Given the description of an element on the screen output the (x, y) to click on. 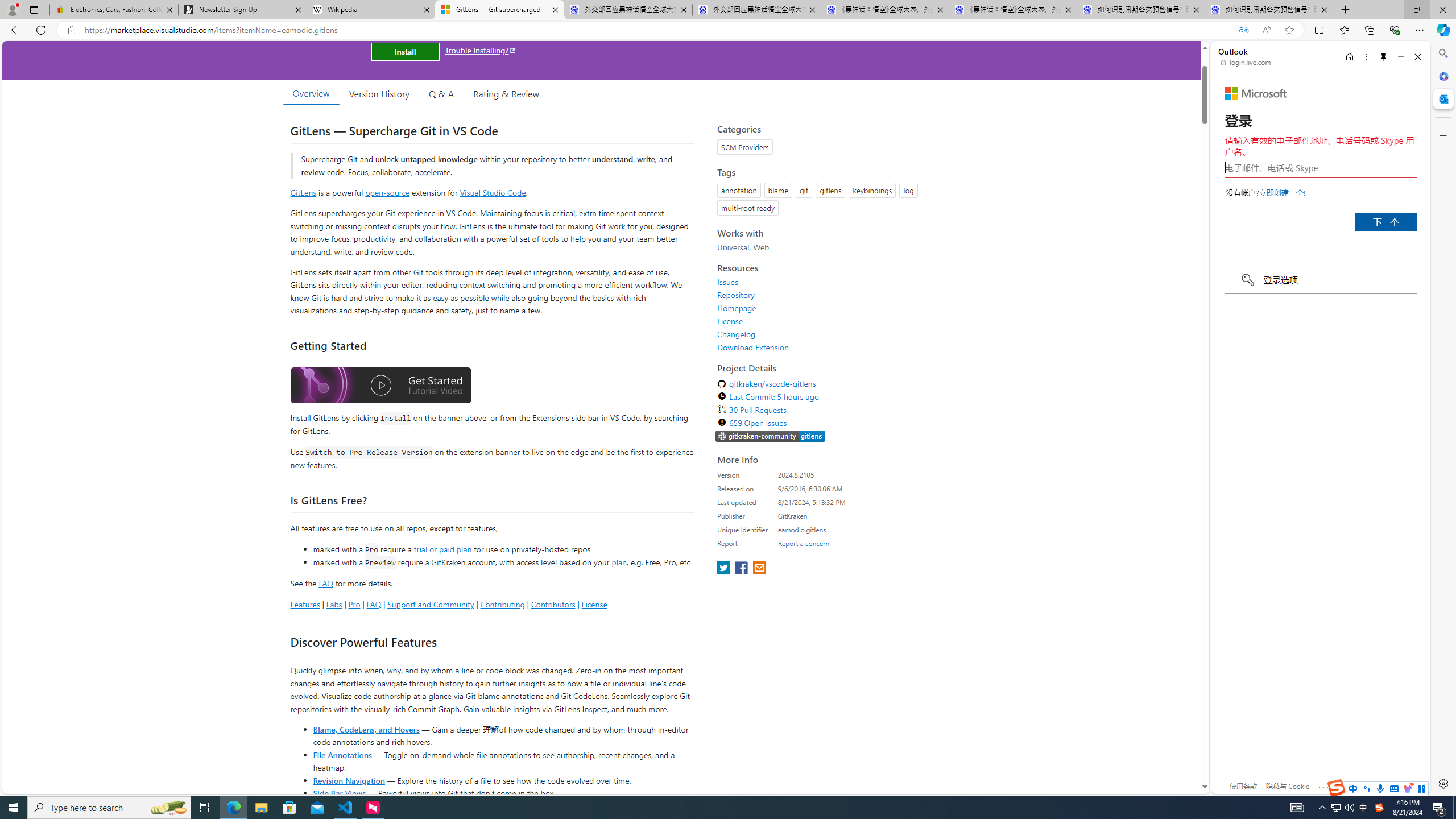
Repository (820, 294)
Version History (379, 92)
Pro (354, 603)
Revision Navigation (348, 780)
Newsletter Sign Up (242, 9)
Overview (310, 92)
Watch the GitLens Getting Started video (380, 385)
